Given the description of an element on the screen output the (x, y) to click on. 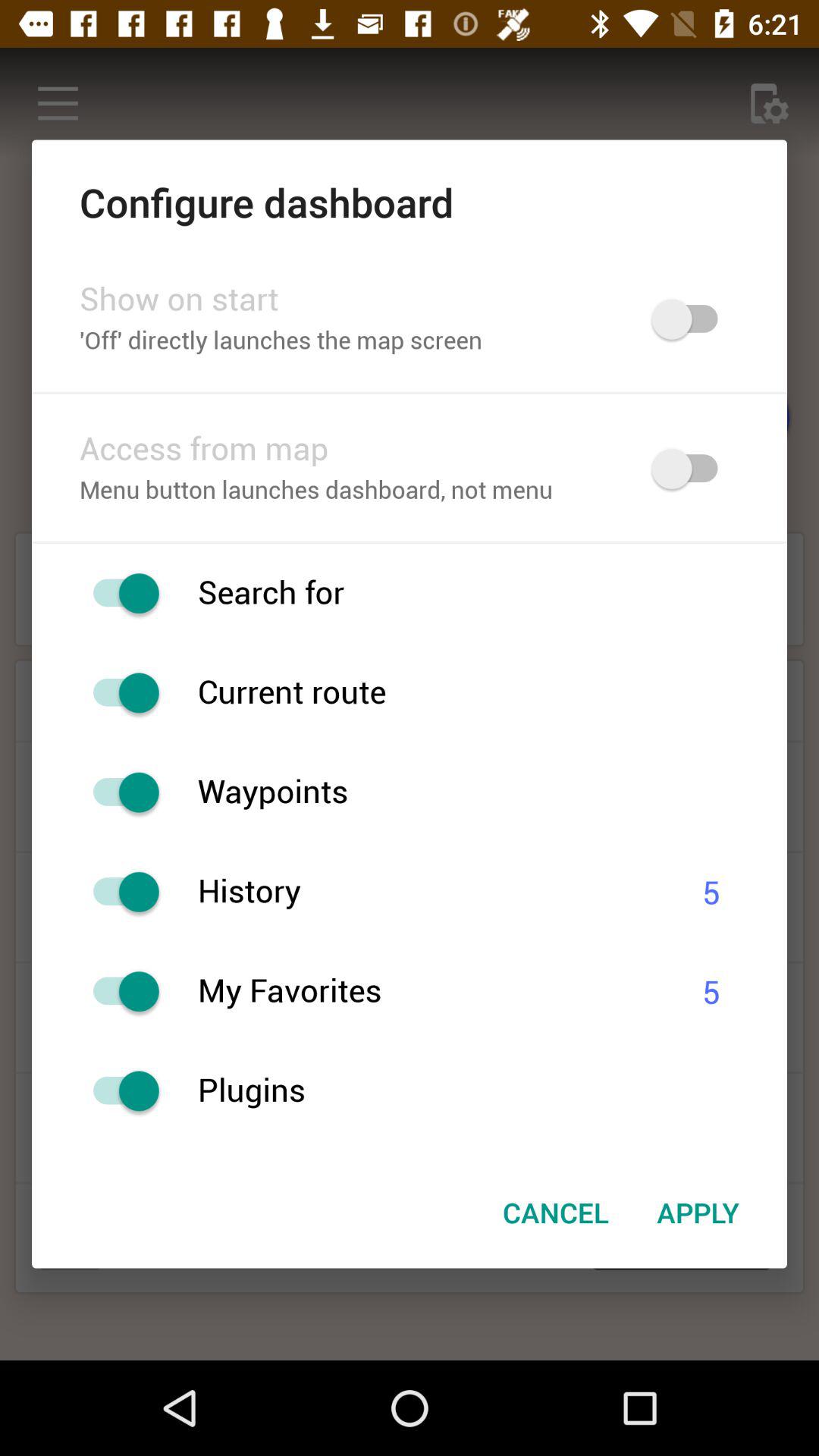
press waypoints (492, 792)
